Given the description of an element on the screen output the (x, y) to click on. 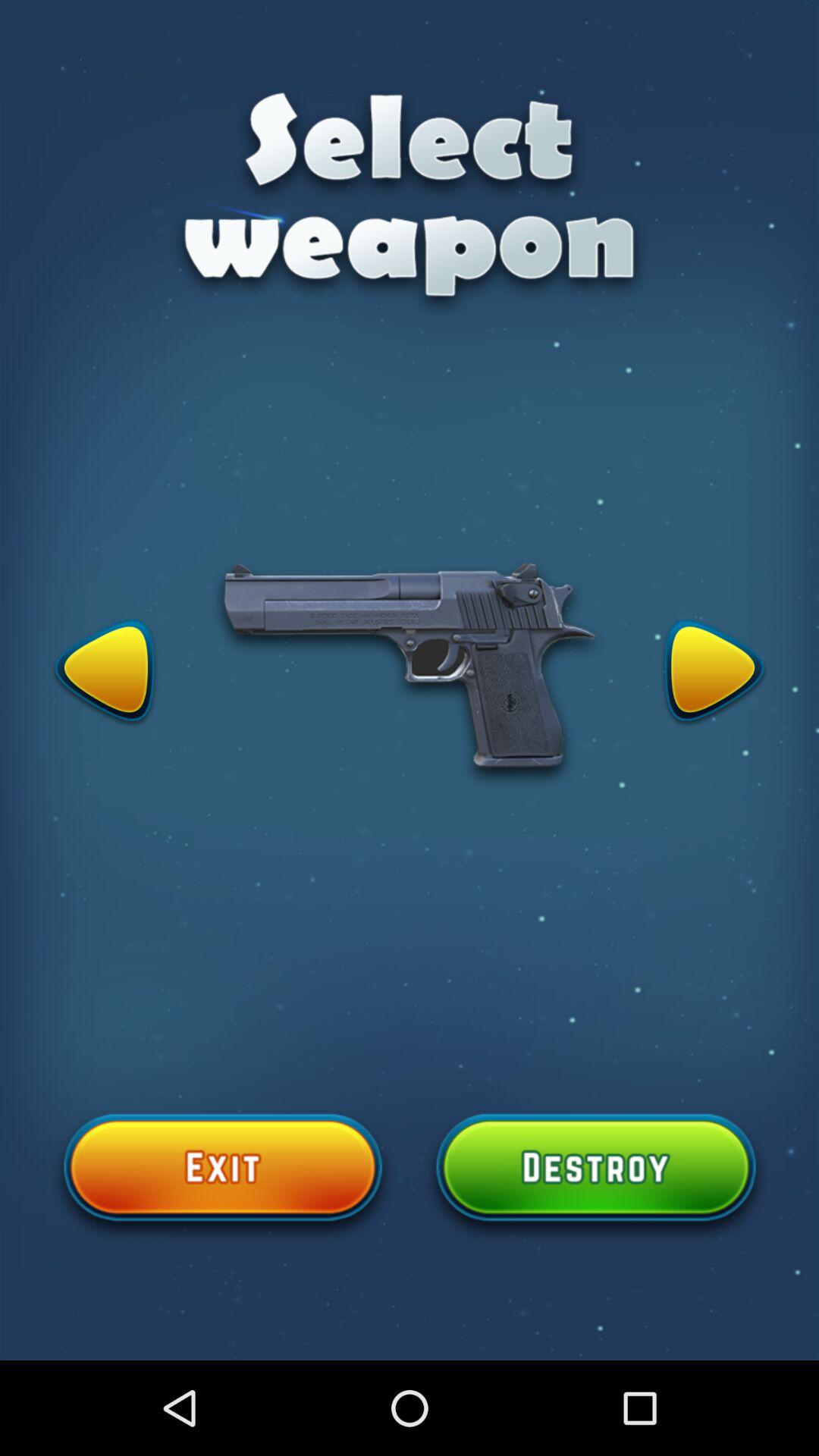
next weapon (714, 673)
